Given the description of an element on the screen output the (x, y) to click on. 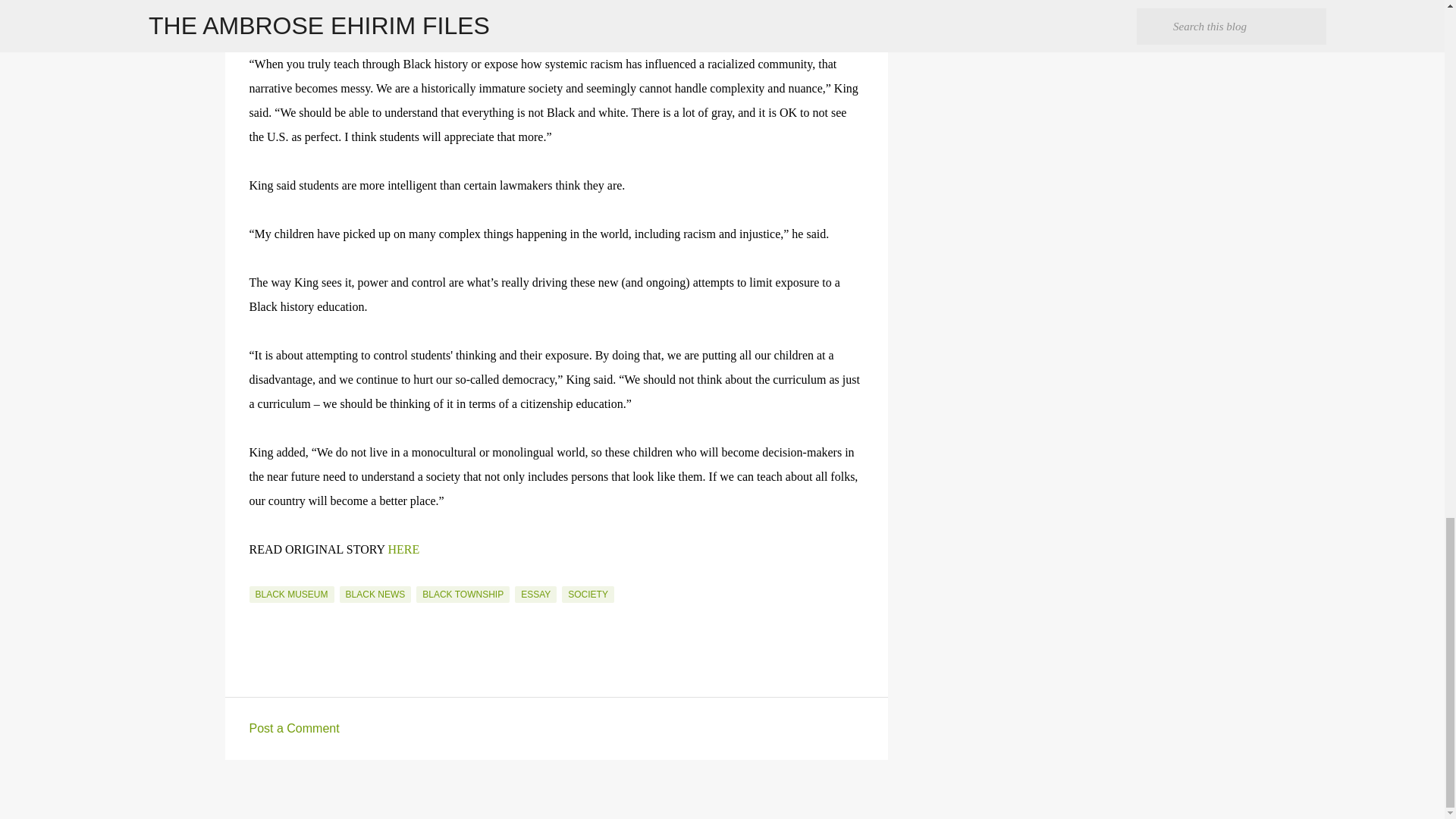
BLACK MUSEUM (290, 594)
BLACK TOWNSHIP (462, 594)
Post a Comment (293, 727)
ESSAY (535, 594)
HERE (403, 549)
Email Post (257, 576)
BLACK NEWS (375, 594)
suppress (426, 15)
SOCIETY (588, 594)
